Given the description of an element on the screen output the (x, y) to click on. 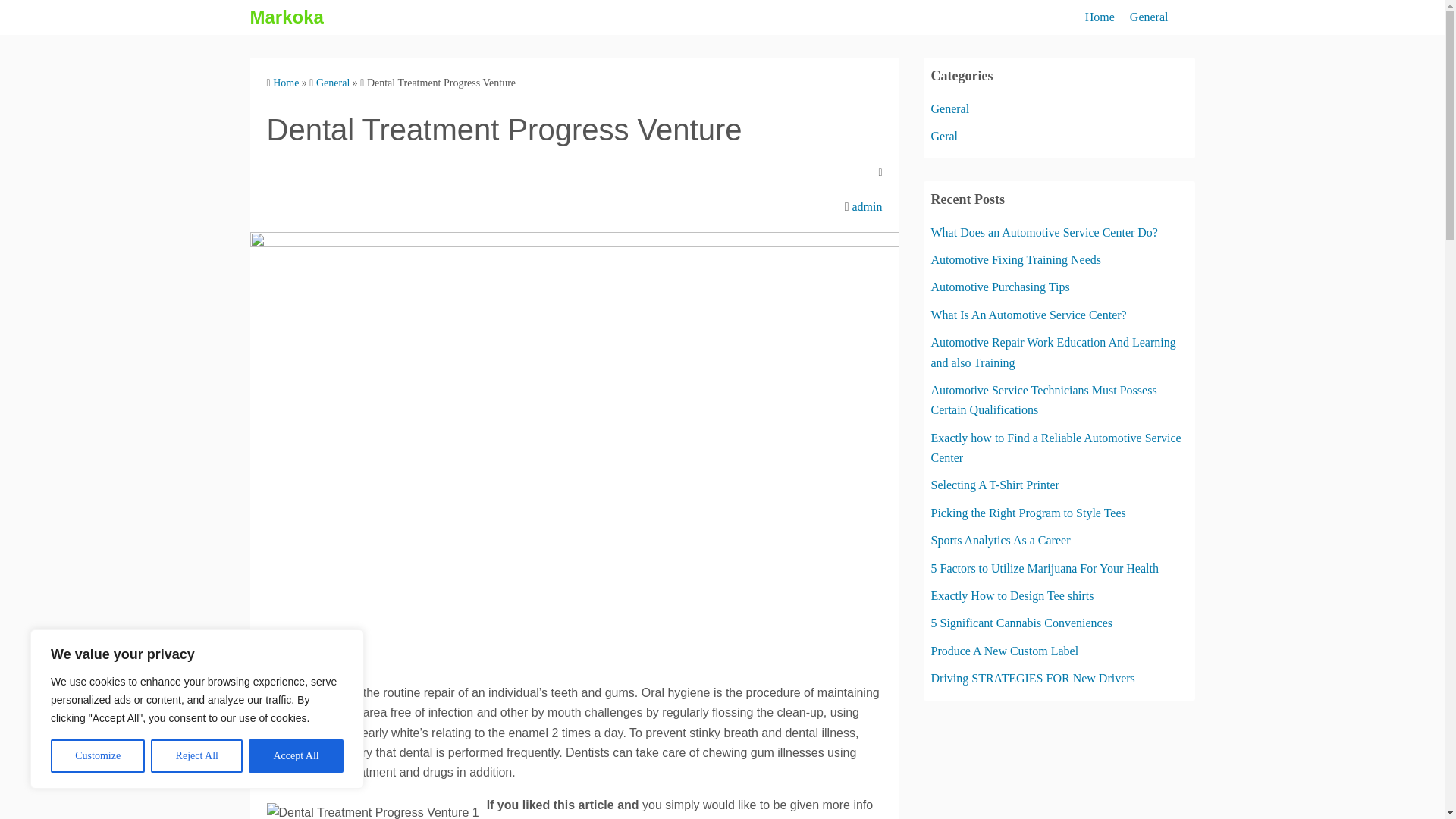
Geral (944, 135)
What Does an Automotive Service Center Do? (1044, 232)
General (950, 108)
Home (285, 82)
Customize (97, 756)
General (1149, 17)
Accept All (295, 756)
admin (866, 205)
General (332, 82)
Markoka (286, 16)
